Given the description of an element on the screen output the (x, y) to click on. 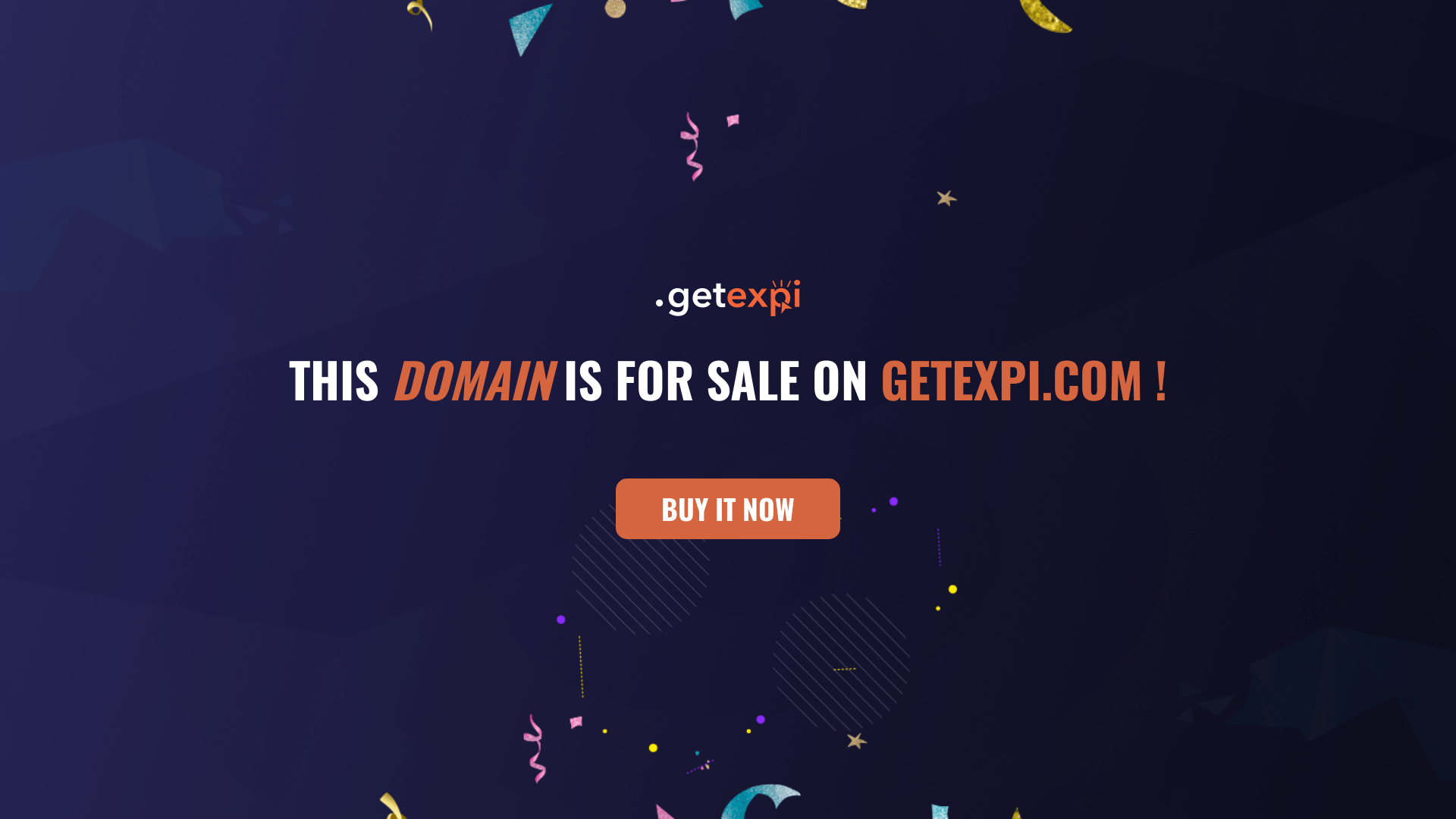
BUY IT NOW Element type: text (727, 515)
GETEXPI.COM ! Element type: text (1023, 378)
BUY IT NOW Element type: text (727, 508)
